Given the description of an element on the screen output the (x, y) to click on. 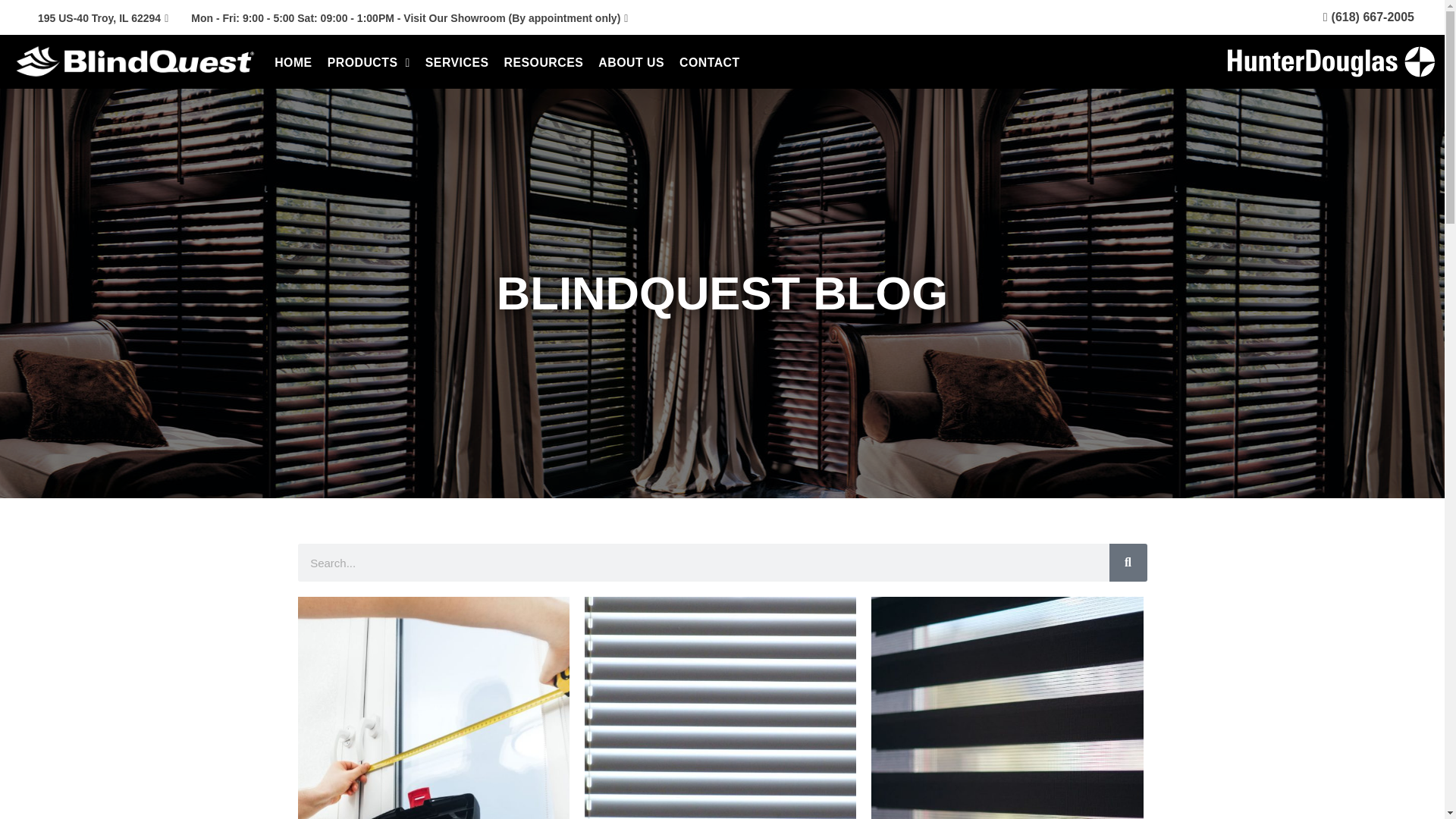
195 US-40 Troy, IL 62294 (103, 18)
HOME (293, 61)
PRODUCTS (368, 61)
